Given the description of an element on the screen output the (x, y) to click on. 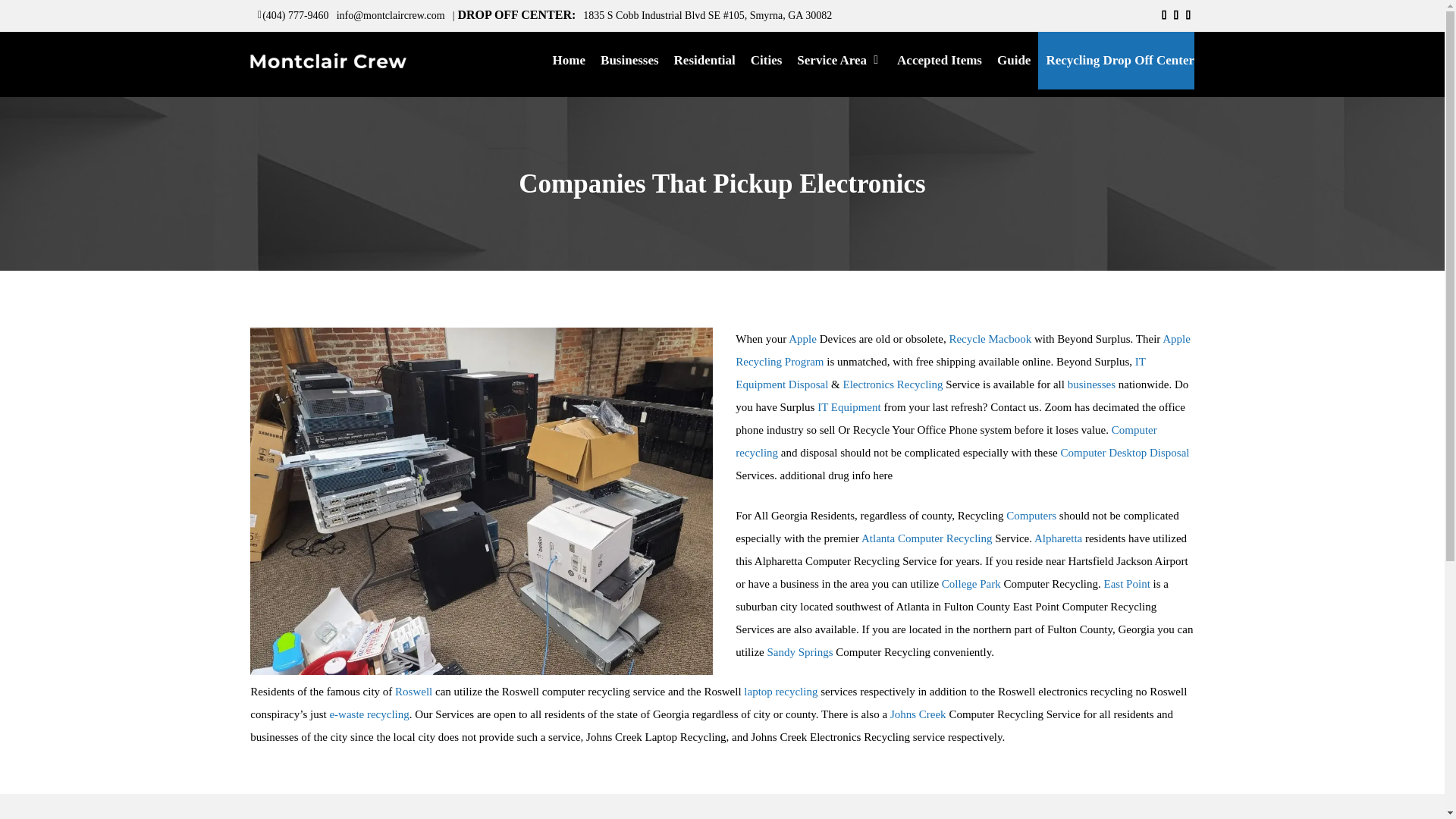
Residential (704, 60)
Electronics Recycling (893, 384)
Home (568, 60)
Recycle Macbook (989, 338)
Apple (802, 338)
Recycling Drop Off Center (1115, 60)
Cities (766, 60)
IT Equipment (848, 407)
Service Area (839, 60)
Accepted Items (939, 60)
businesses (1091, 384)
Computer recycling (945, 441)
IT Equipment Disposal (939, 372)
Apple Recycling Program (963, 349)
Businesses (629, 60)
